Given the description of an element on the screen output the (x, y) to click on. 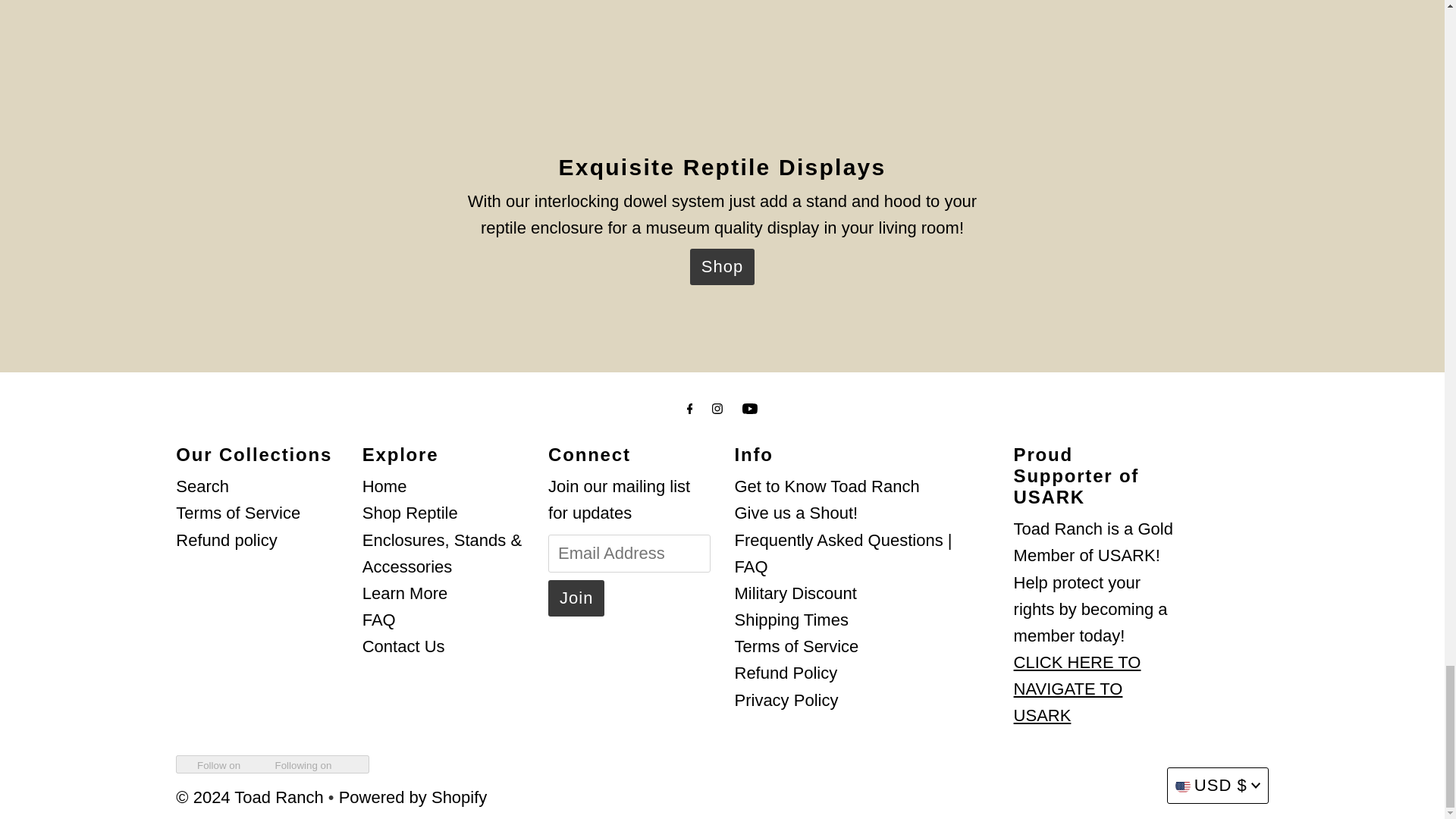
Join (576, 597)
Instagram (716, 407)
Youtube (749, 407)
Facebook (690, 407)
